Given the description of an element on the screen output the (x, y) to click on. 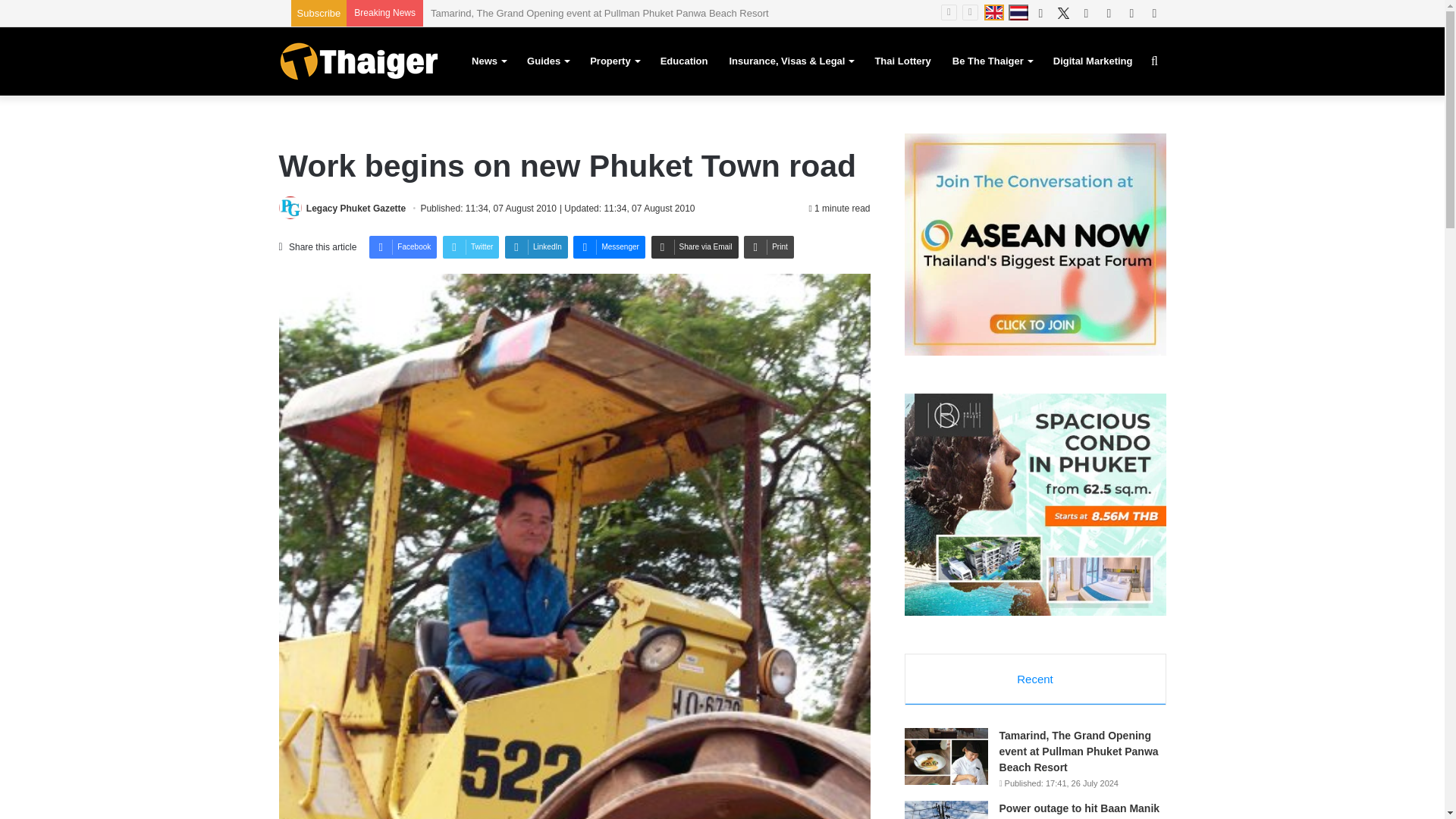
TikTok (1154, 13)
Share via Email (694, 246)
Thaiger (358, 60)
Facebook (1040, 13)
Subscribe (318, 12)
Legacy Phuket Gazette (355, 208)
LinkedIn (1086, 13)
Print (768, 246)
LinkedIn (536, 246)
YouTube (1109, 13)
News (488, 60)
Instagram (1131, 13)
Facebook (402, 246)
Twitter (1063, 13)
